Given the description of an element on the screen output the (x, y) to click on. 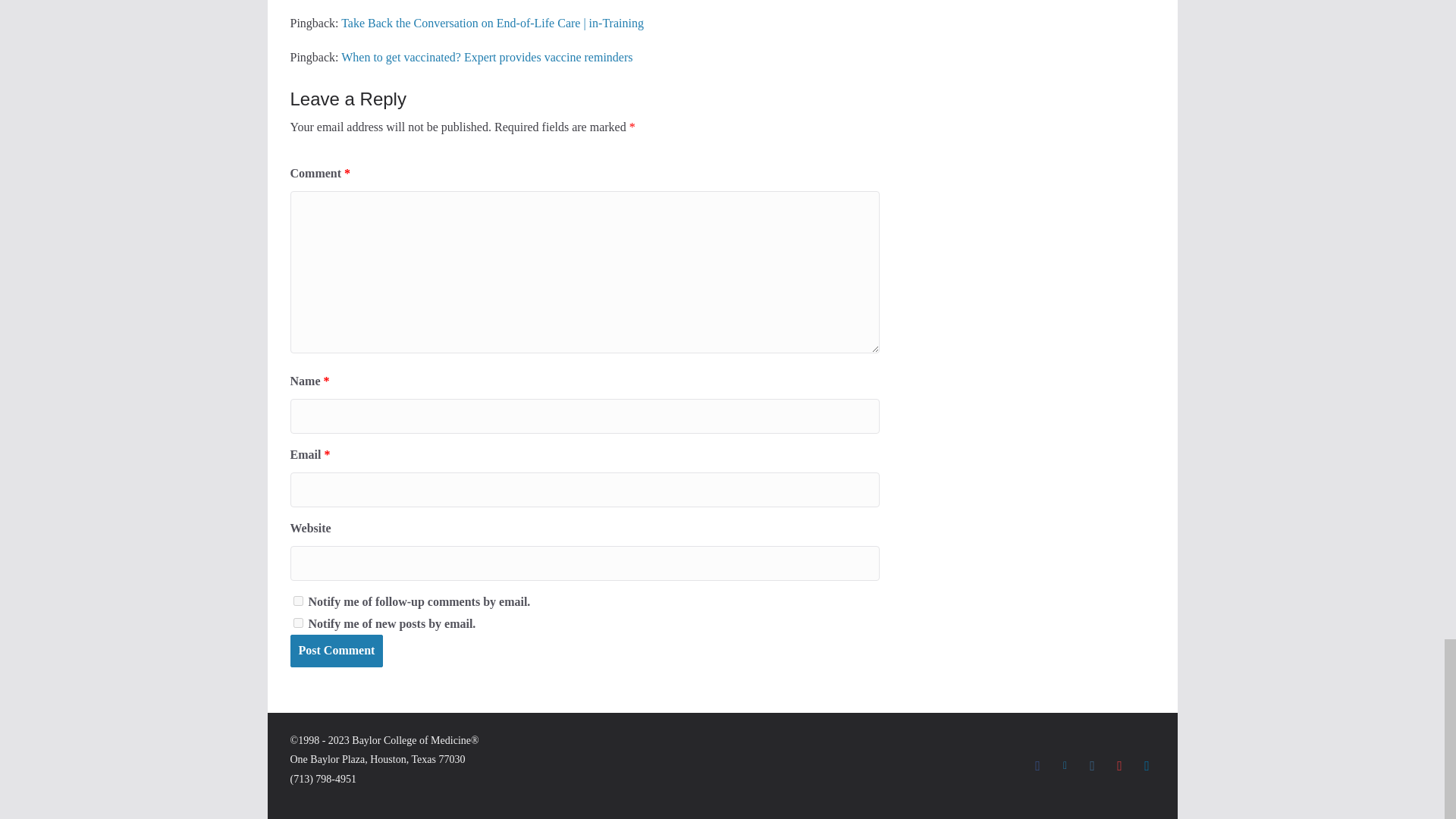
Post Comment (335, 650)
subscribe (297, 601)
subscribe (297, 623)
